Given the description of an element on the screen output the (x, y) to click on. 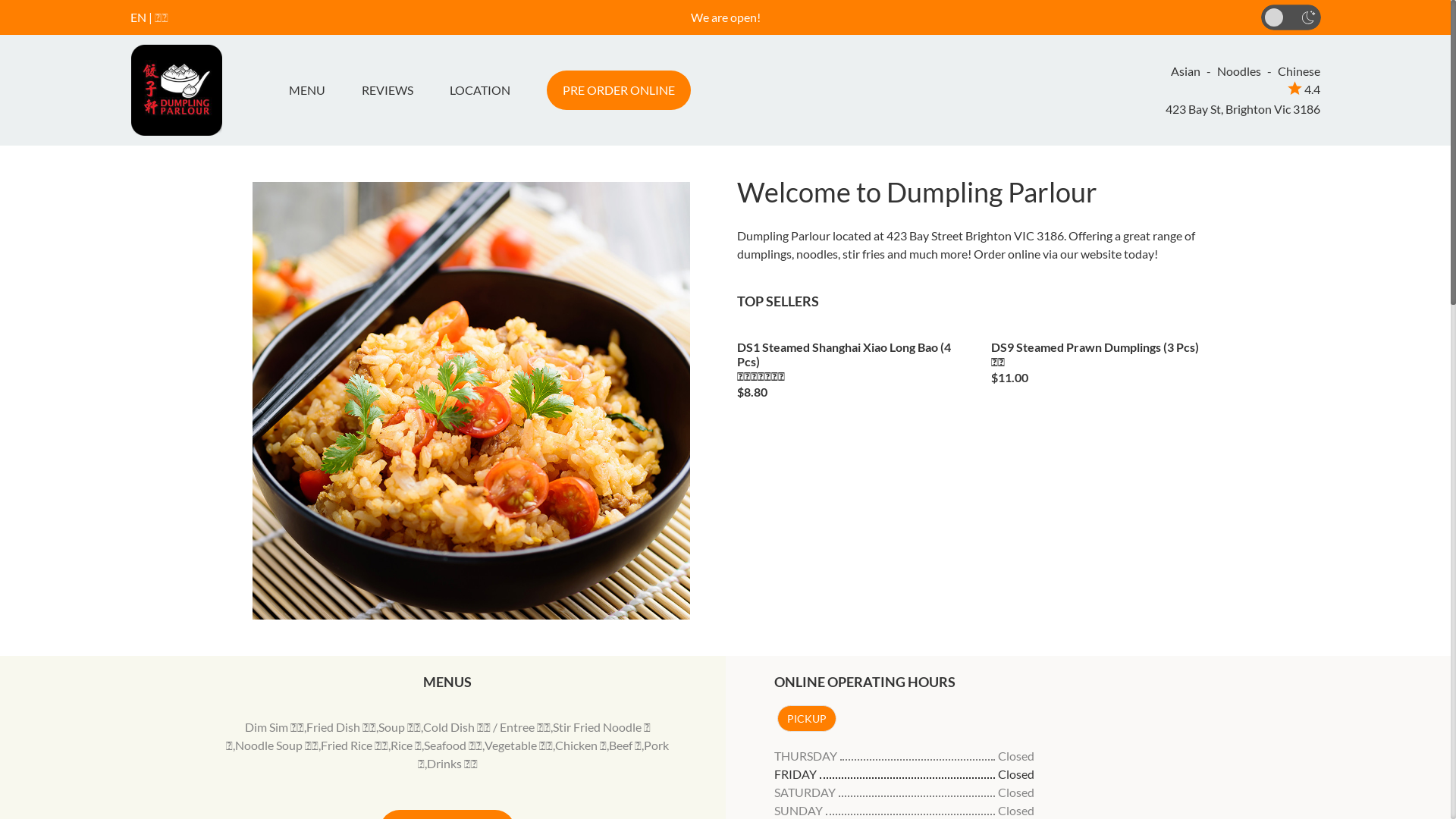
PICKUP Element type: text (805, 718)
PRE ORDER ONLINE Element type: text (618, 89)
LOCATION Element type: text (478, 90)
MENU Element type: text (312, 90)
REVIEWS Element type: text (386, 90)
EN Element type: text (138, 16)
4.4 Element type: text (1303, 88)
